Given the description of an element on the screen output the (x, y) to click on. 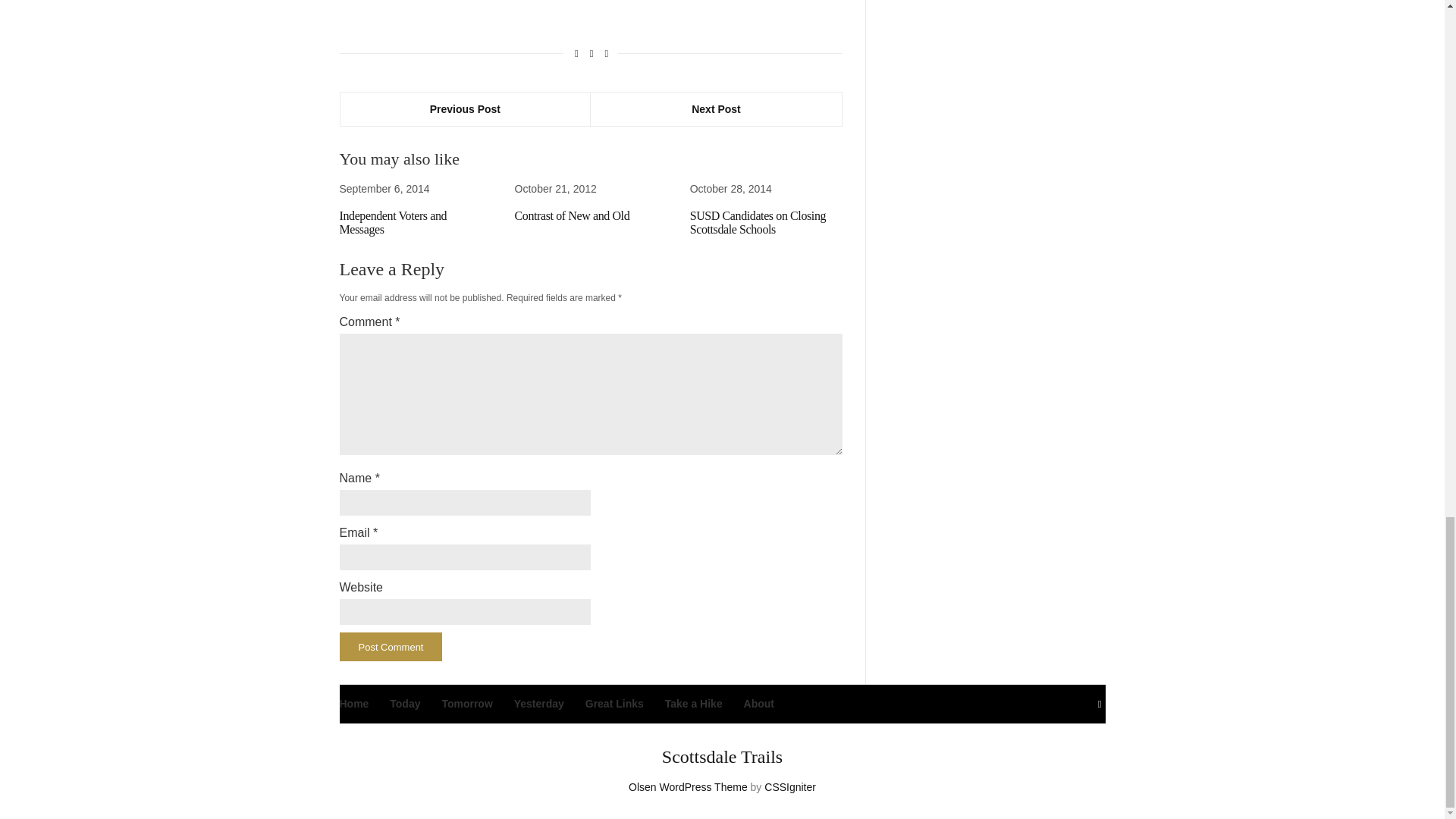
Previous Post (465, 109)
Independent Voters and Messages (392, 222)
Post Comment (390, 646)
Next Post (716, 109)
Blogging theme for WordPress (688, 787)
Contrast of New and Old (572, 215)
